Given the description of an element on the screen output the (x, y) to click on. 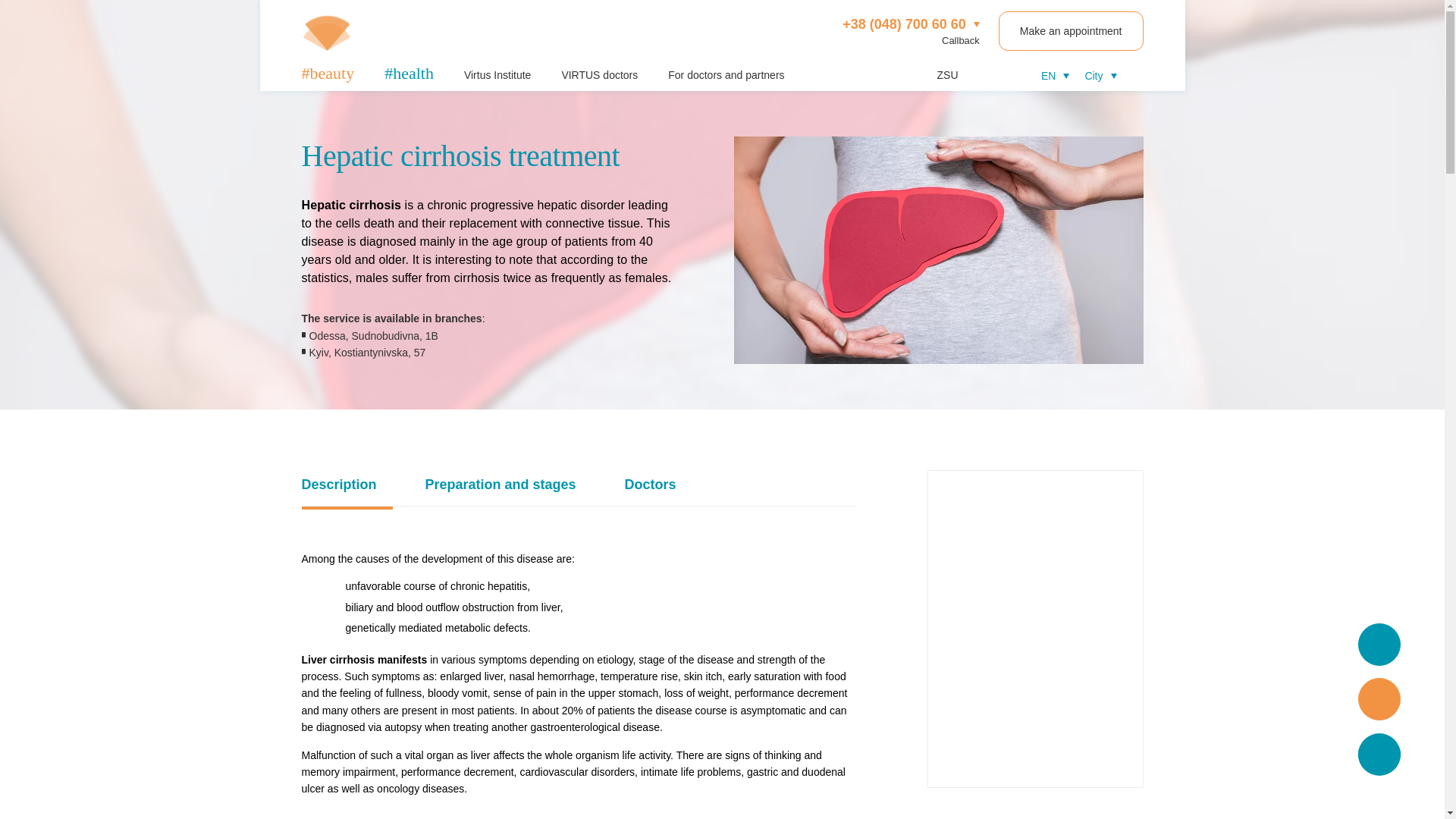
Make an appointment (1070, 30)
